Given the description of an element on the screen output the (x, y) to click on. 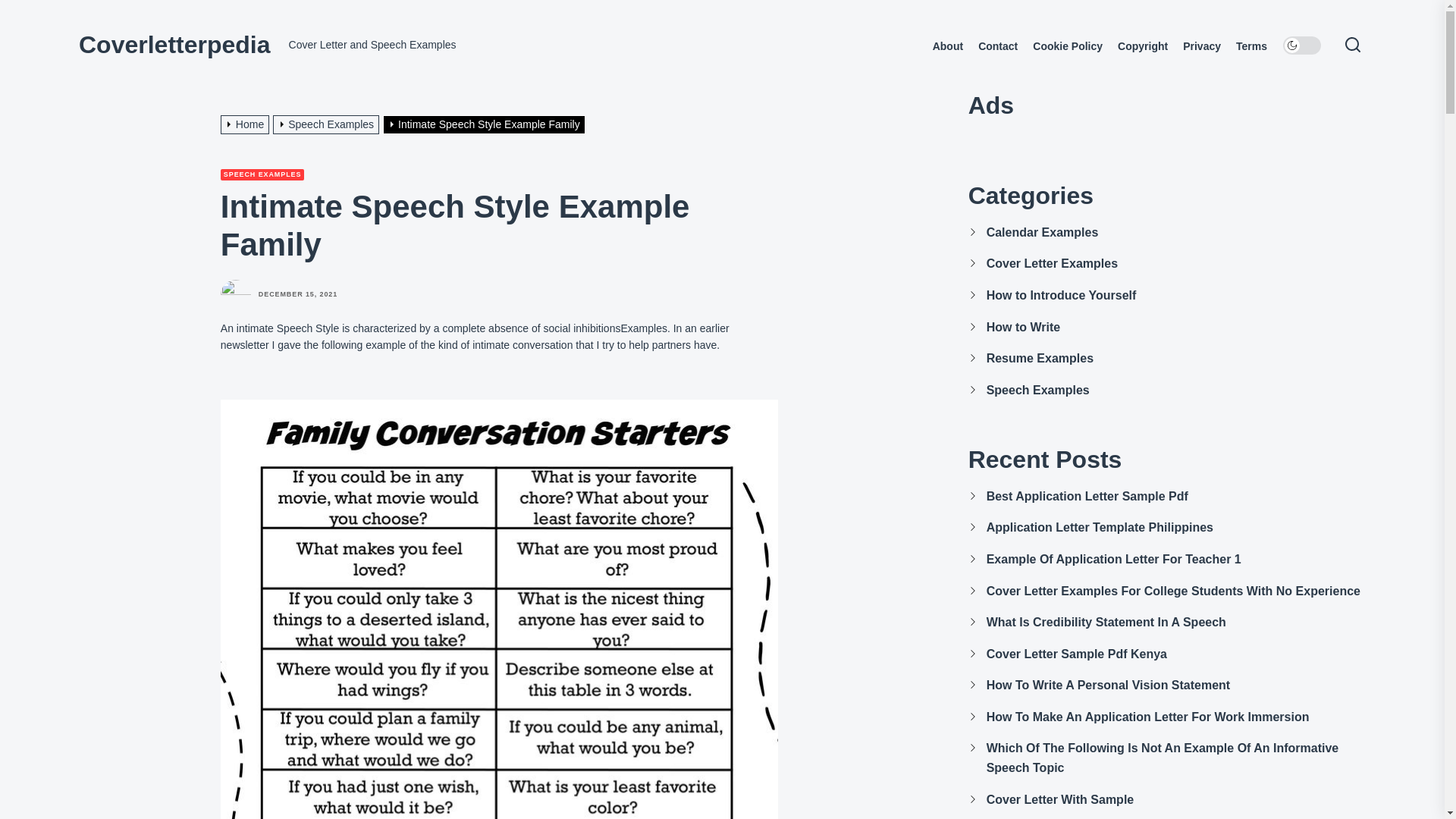
Home (247, 123)
Privacy (1201, 46)
Intimate Speech Style Example Family (485, 123)
SPEECH EXAMPLES (262, 174)
Speech Examples (327, 123)
Cookie Policy (1067, 46)
Contact (997, 46)
Copyright (1142, 46)
Terms (1251, 46)
Coverletterpedia (174, 44)
